Given the description of an element on the screen output the (x, y) to click on. 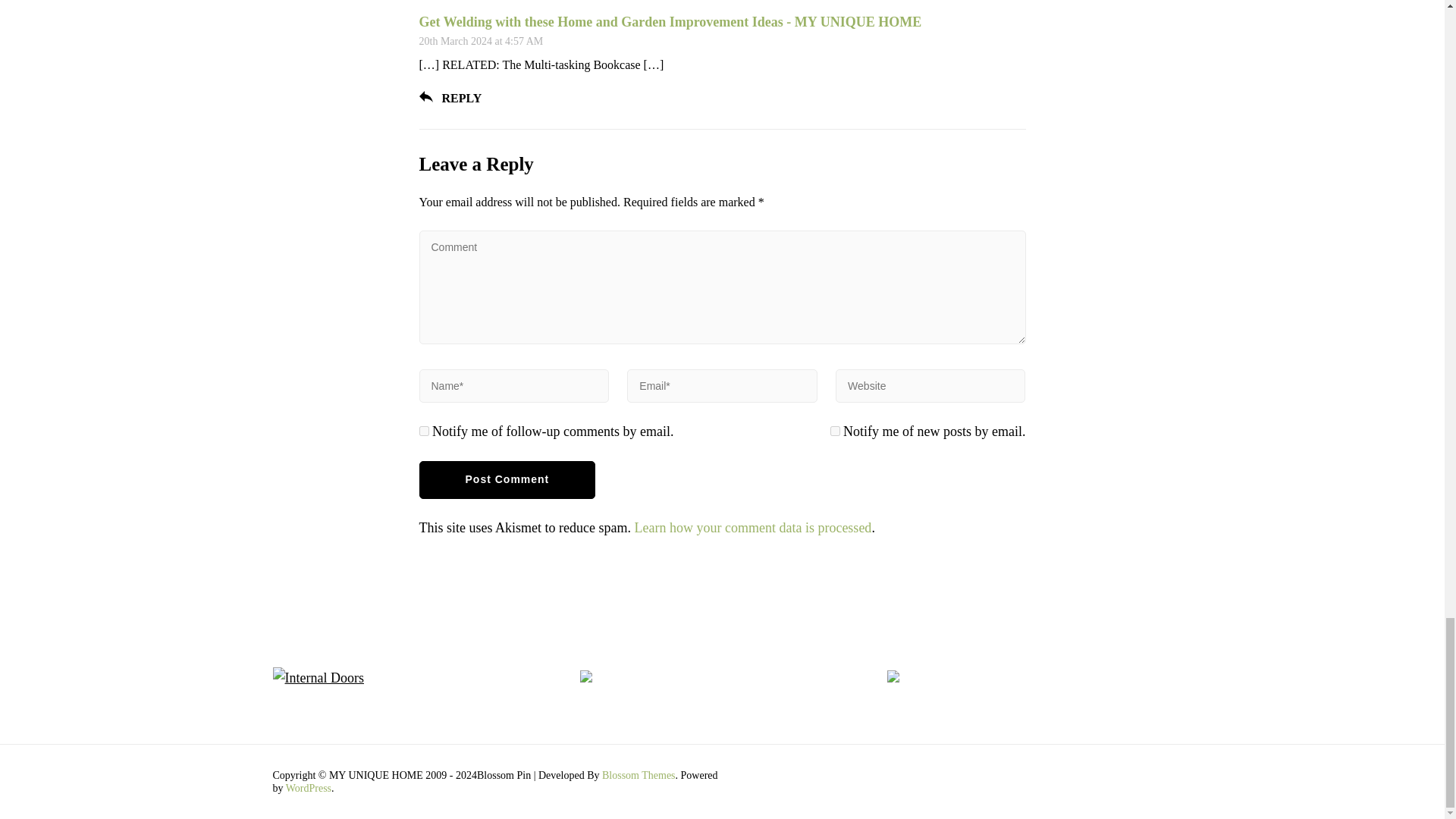
subscribe (834, 430)
subscribe (423, 430)
Post Comment (507, 479)
